Given the description of an element on the screen output the (x, y) to click on. 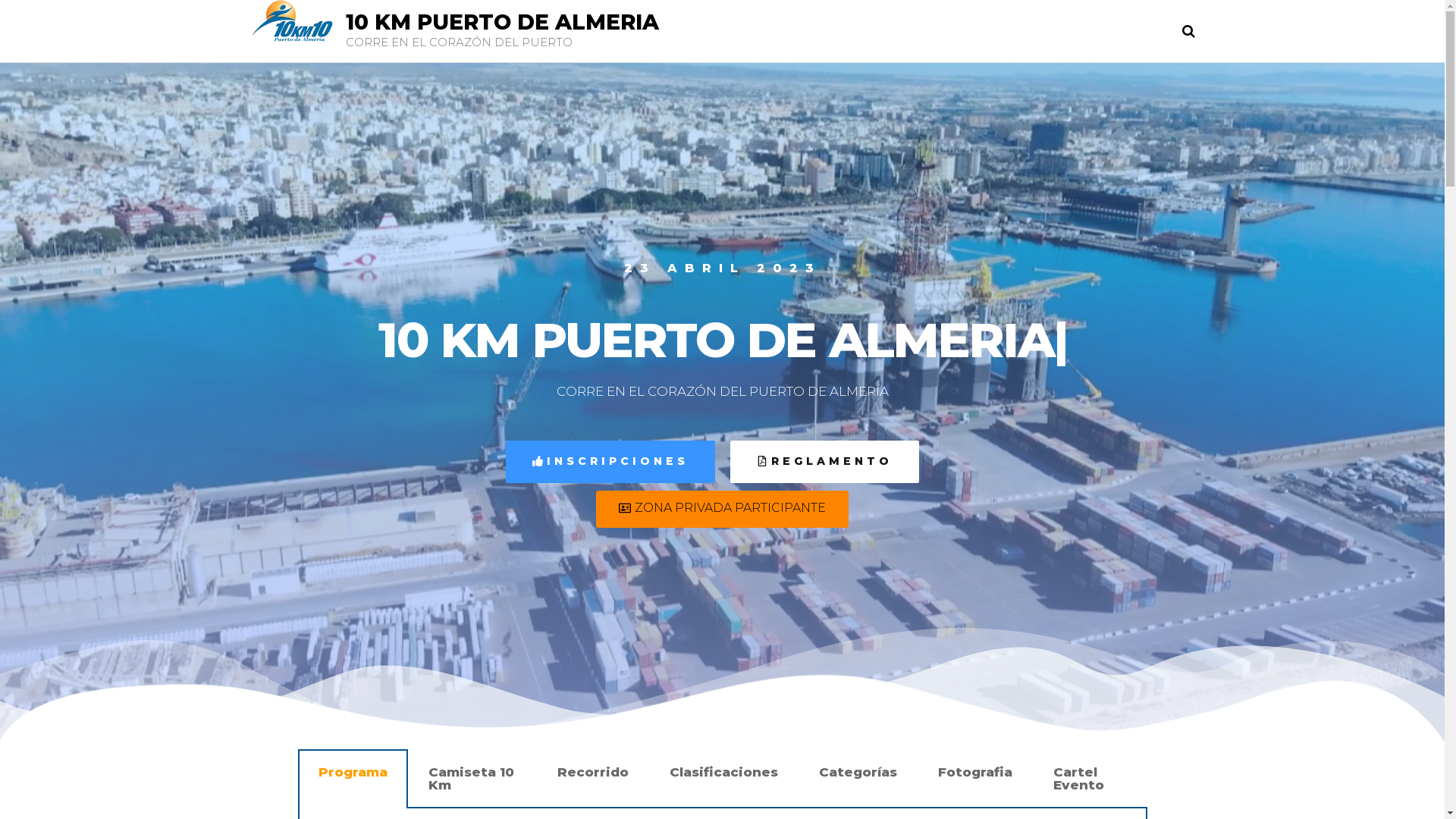
REGLAMENTO Element type: text (823, 461)
ZONA PRIVADA PARTICIPANTE Element type: text (722, 508)
INSCRIPCIONES Element type: text (609, 461)
10 KM PUERTO DE ALMERIA Element type: text (501, 21)
